Given the description of an element on the screen output the (x, y) to click on. 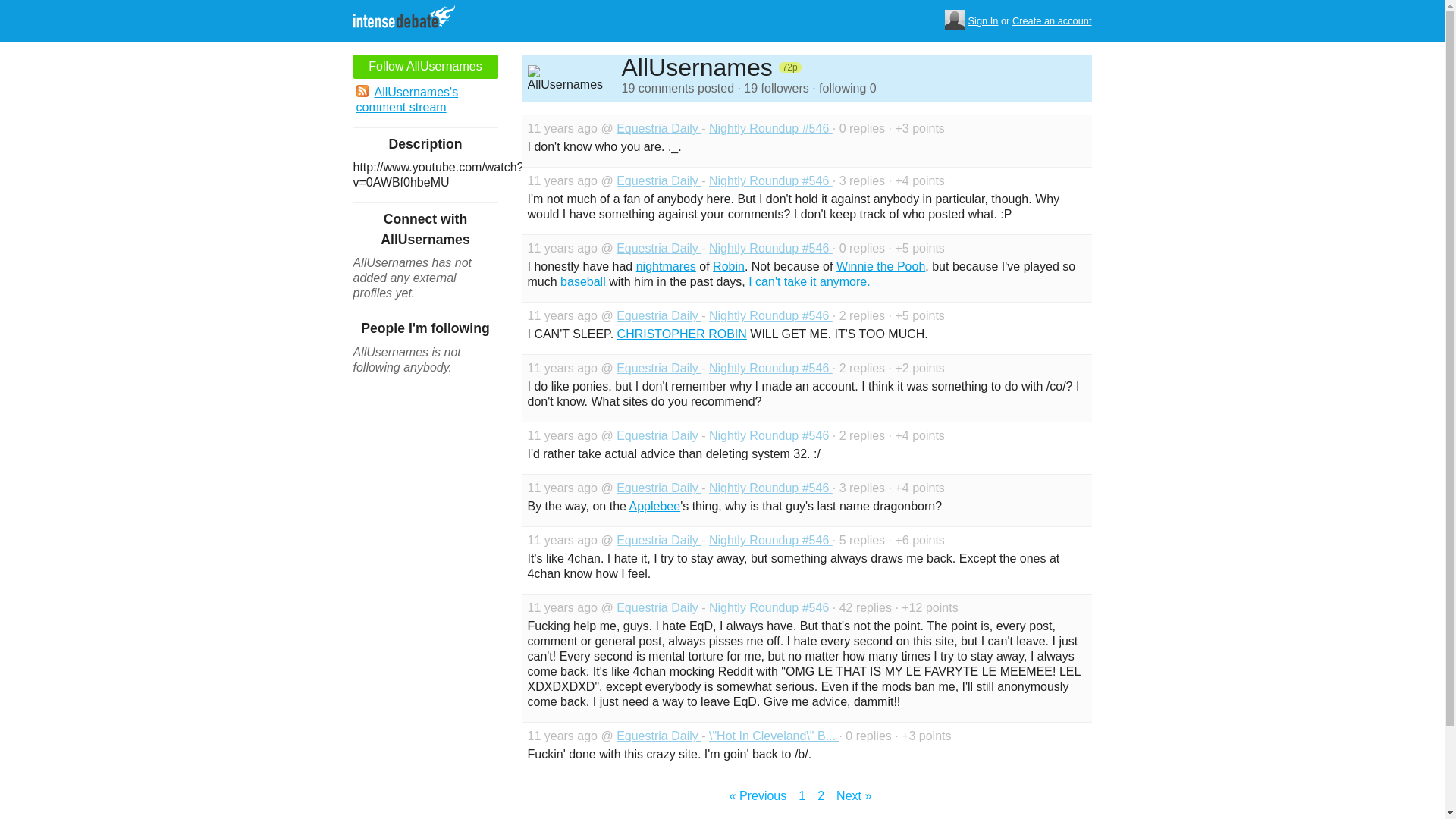
Equestria Daily (658, 487)
Follow AllUsernames (425, 66)
Equestria Daily (658, 735)
AllUsernames's comment stream (425, 99)
Applebee (654, 505)
CHRISTOPHER ROBIN (681, 333)
IntenseDebate Comment System (410, 18)
Equestria Daily (658, 180)
Sign In (983, 21)
Equestria Daily (658, 315)
Equestria Daily (658, 128)
nightmares (665, 266)
Equestria Daily (658, 540)
Equestria Daily (658, 367)
Winnie the Pooh (879, 266)
